Given the description of an element on the screen output the (x, y) to click on. 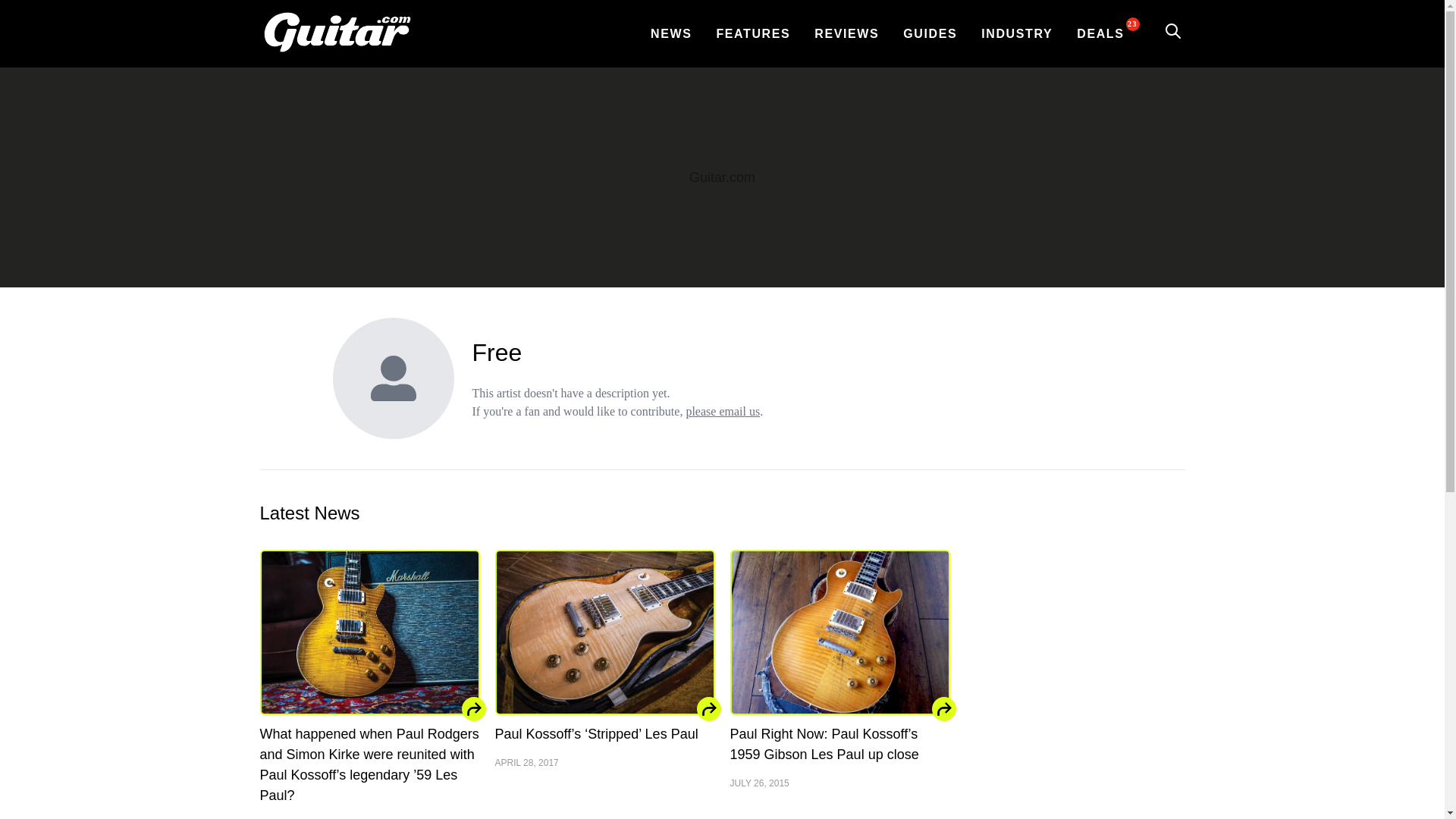
REVIEWS (846, 33)
GUIDES (929, 33)
FEATURES (753, 33)
NEWS (671, 33)
Published July 26, 2015 10:43AM (839, 782)
please email us (722, 410)
Published April 27, 2017 4:45PM (604, 762)
DEALS (1099, 33)
INDUSTRY (1016, 33)
